Given the description of an element on the screen output the (x, y) to click on. 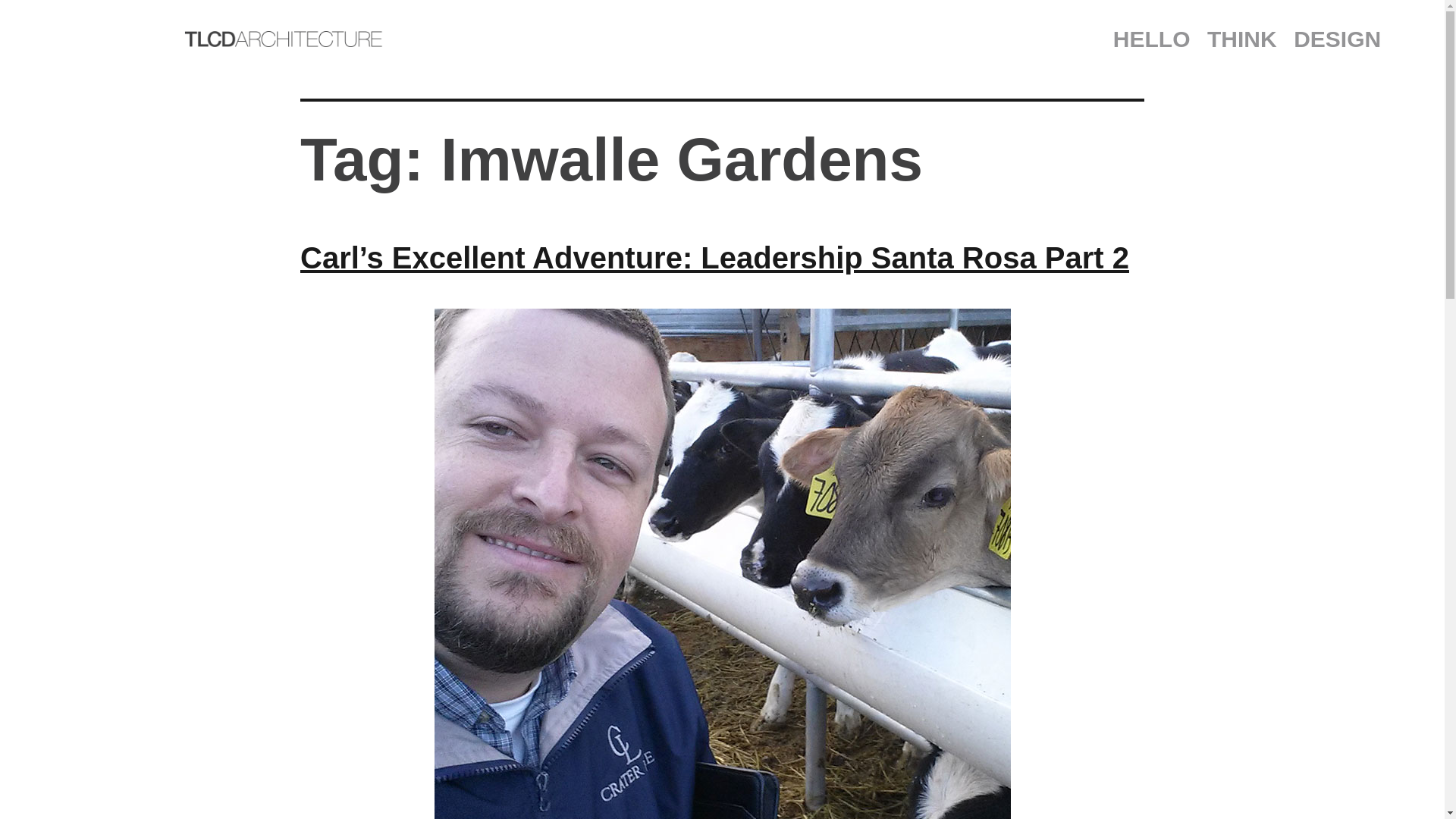
THINK (1241, 38)
HELLO (1151, 38)
DESIGN (1337, 38)
